Given the description of an element on the screen output the (x, y) to click on. 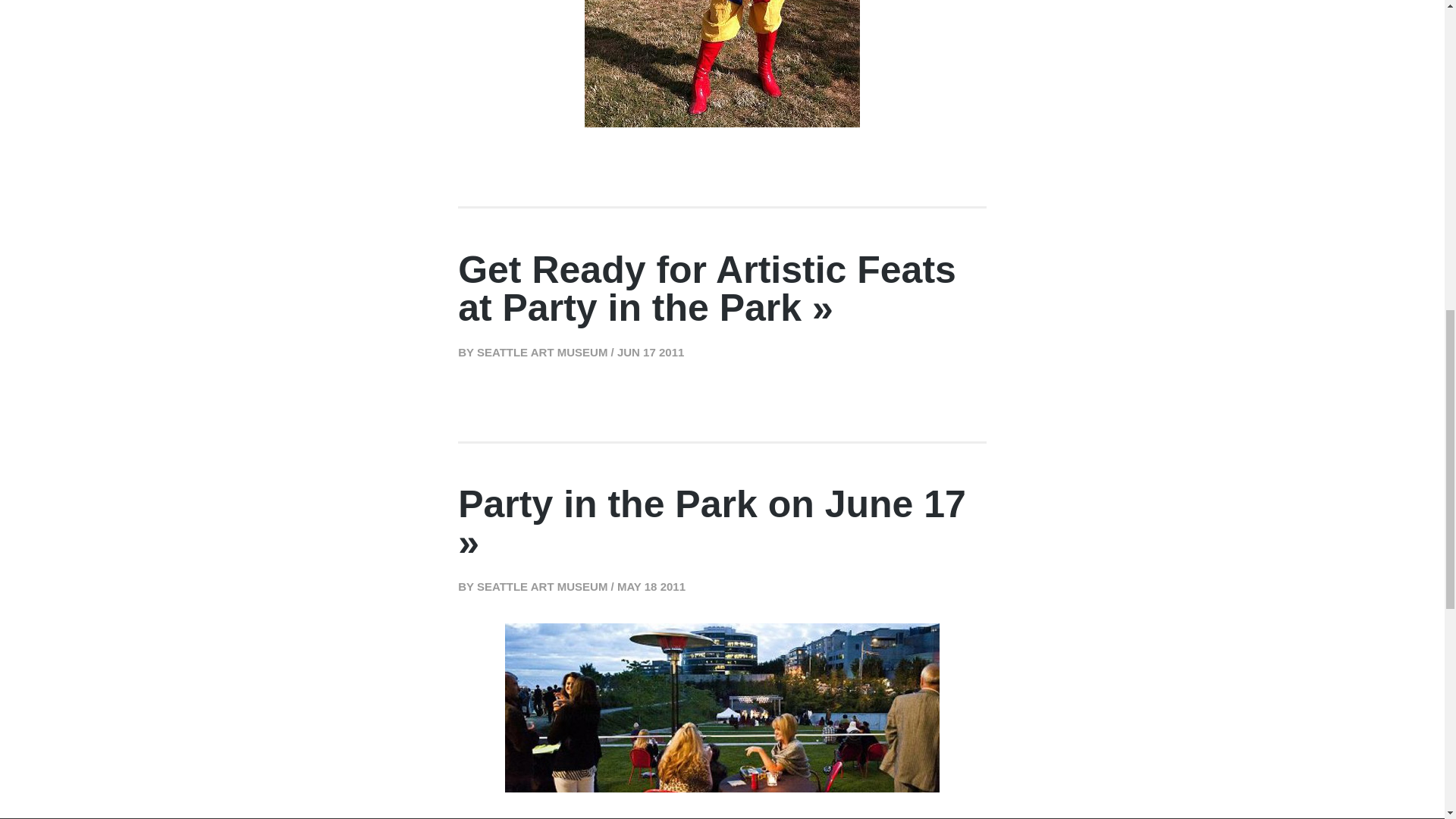
Party in the Park on June 17 (712, 504)
SEATTLE ART MUSEUM (537, 351)
Get Ready for Artistic Feats at Party in the Park (707, 288)
SEATTLE ART MUSEUM (537, 585)
